Given the description of an element on the screen output the (x, y) to click on. 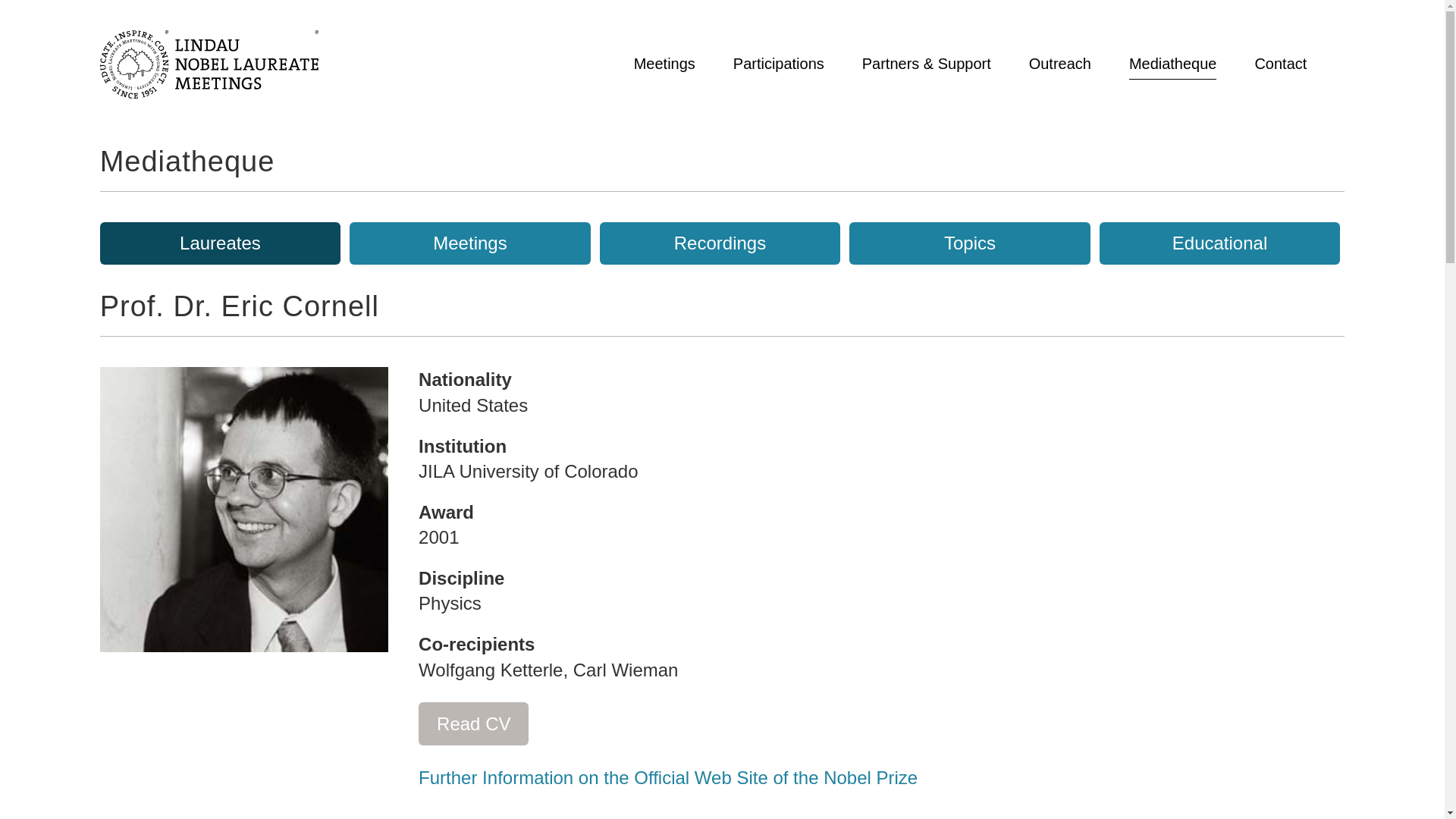
Mediatheque (187, 161)
Outreach (1059, 63)
Mediatheque (1173, 63)
Participations (778, 63)
Meetings (664, 63)
